Given the description of an element on the screen output the (x, y) to click on. 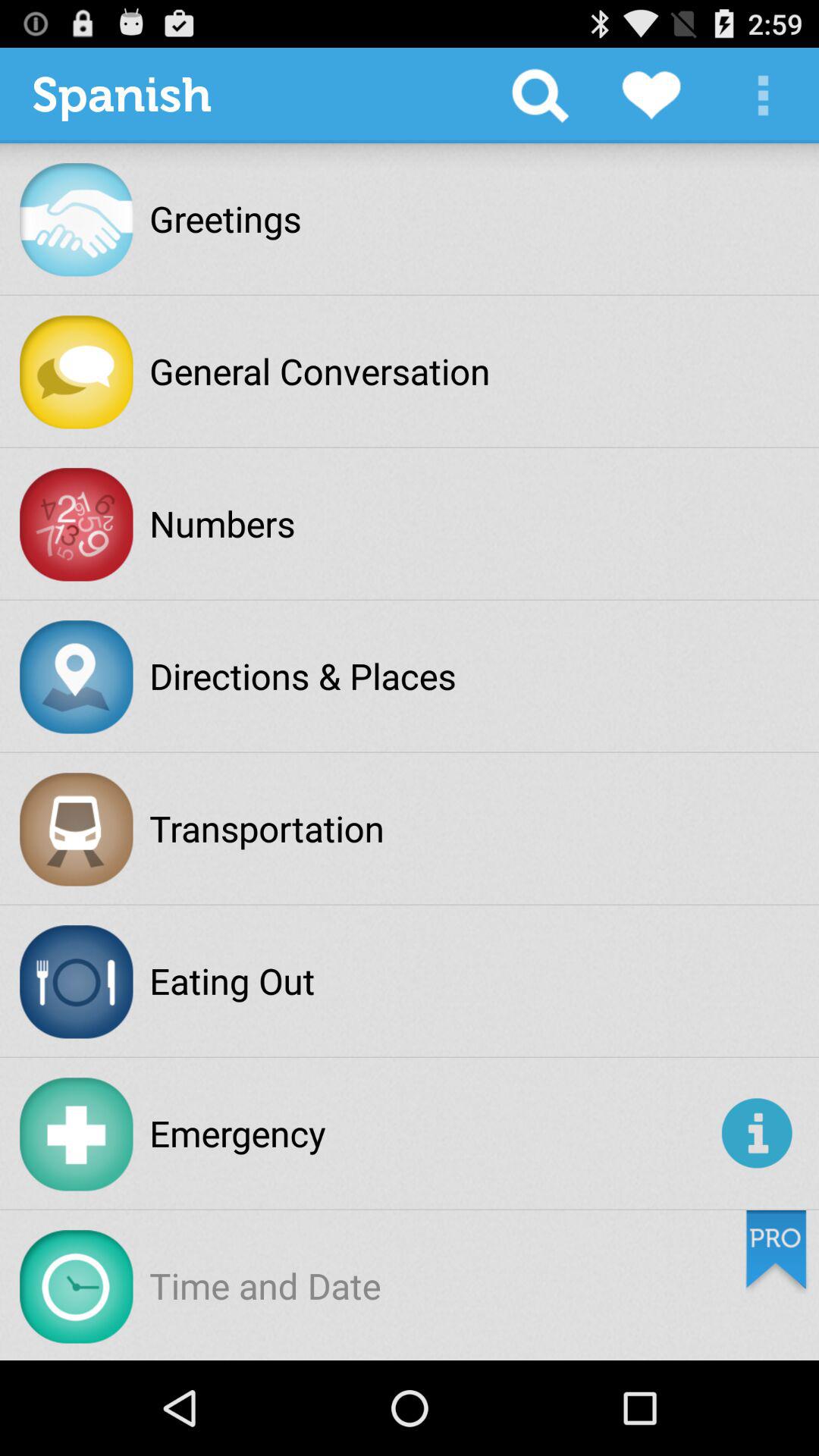
launch the item next to the spanish app (540, 95)
